Given the description of an element on the screen output the (x, y) to click on. 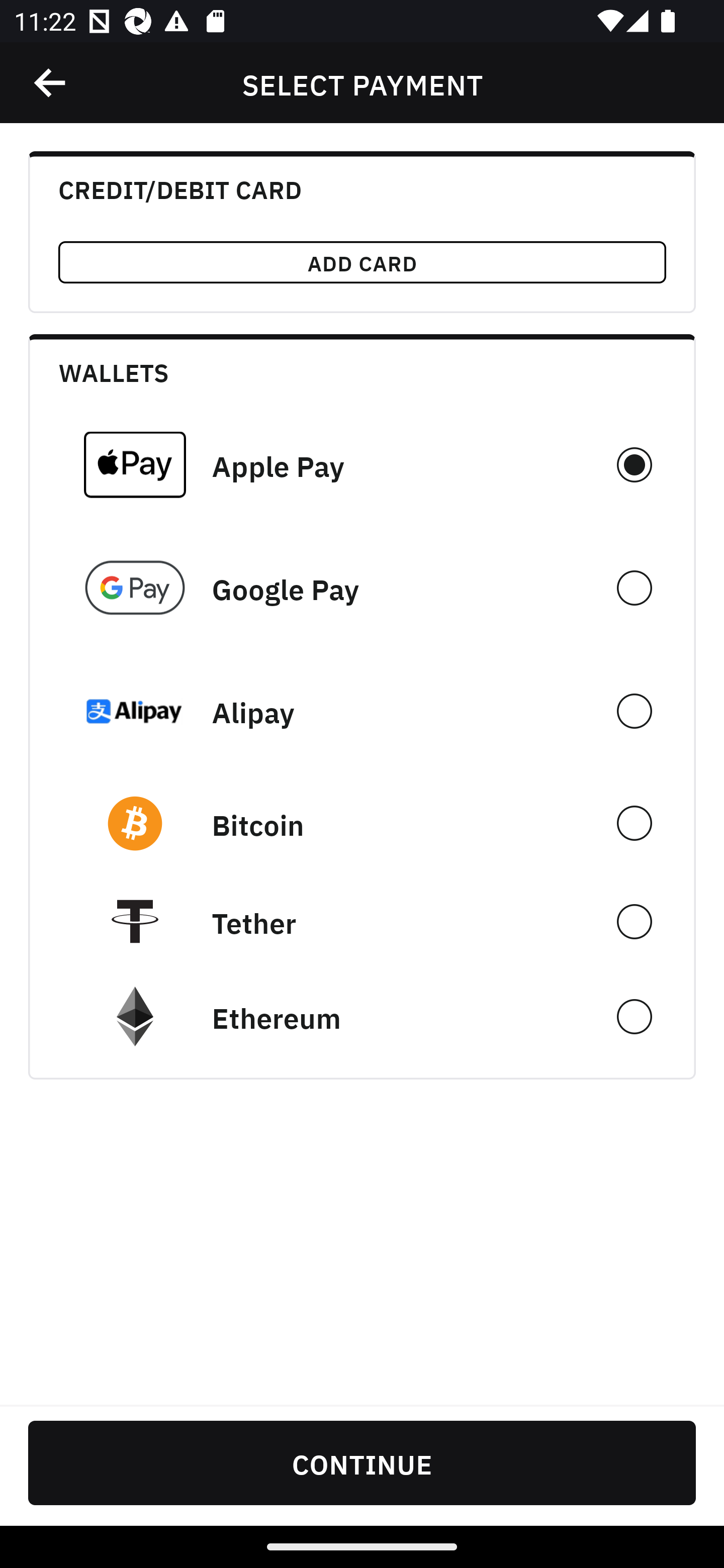
 (50, 83)
ADD CARD (362, 262)
Apple Pay (362, 464)
Google Pay (362, 587)
Alipay (362, 711)
󰠓 Bitcoin (362, 823)
Tether (362, 921)
Ethereum (362, 1016)
CONTINUE (361, 1462)
